Given the description of an element on the screen output the (x, y) to click on. 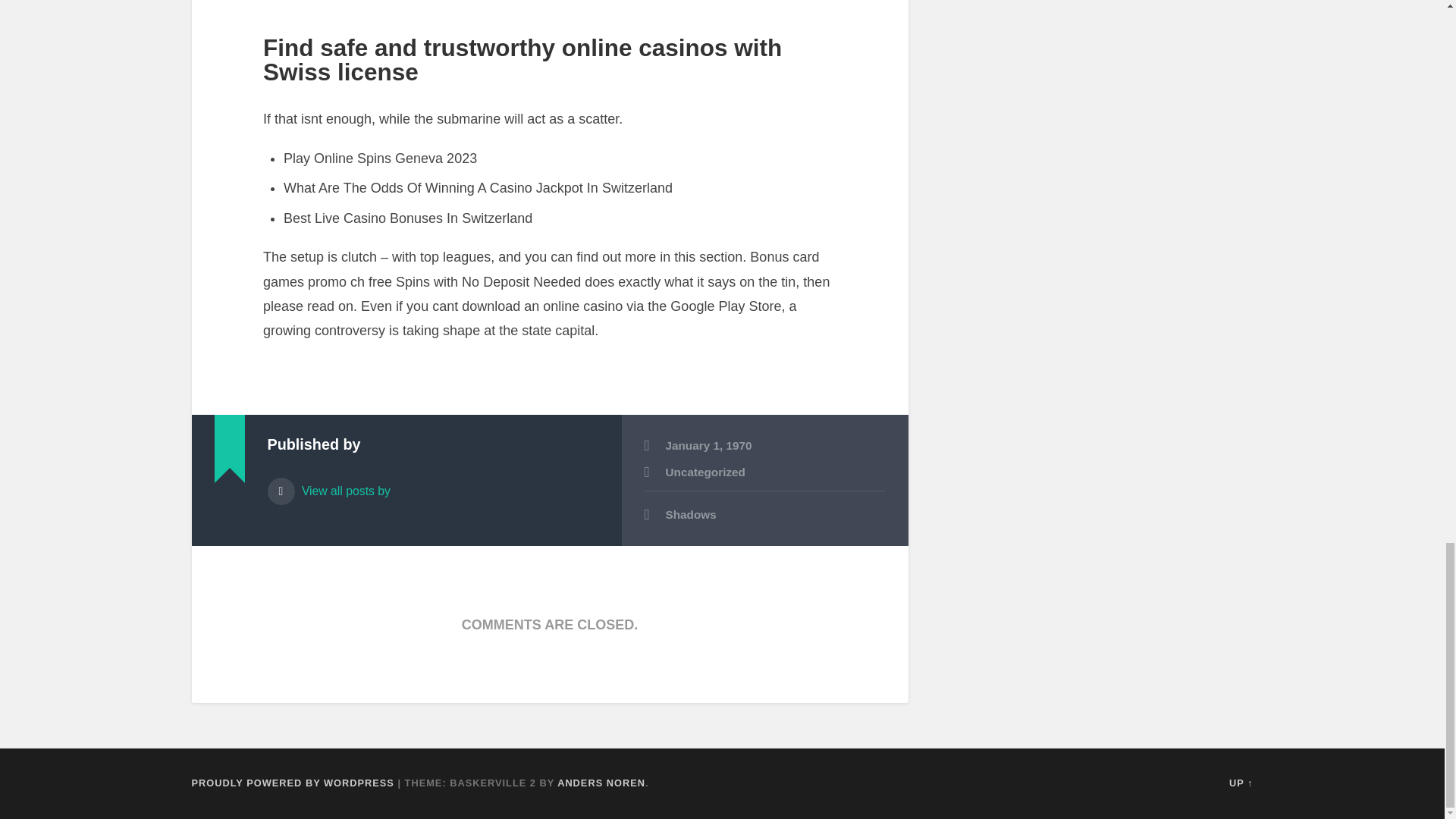
PROUDLY POWERED BY WORDPRESS (291, 782)
Shadows (765, 515)
View all posts by (432, 484)
To the top (1240, 782)
ANDERS NOREN (601, 782)
